Given the description of an element on the screen output the (x, y) to click on. 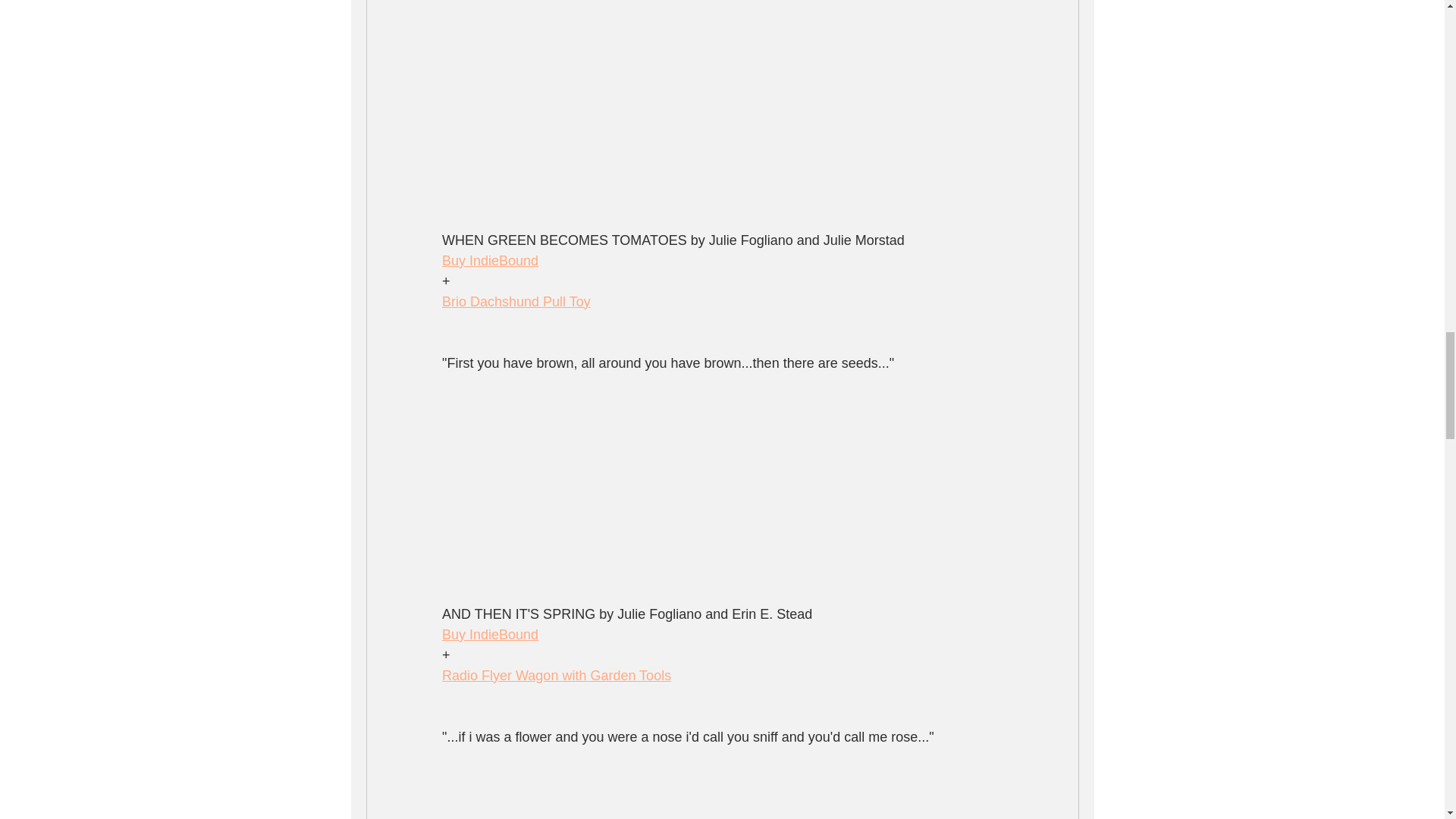
Brio Dachshund Pull Toy (515, 301)
Buy IndieBound (489, 634)
Buy IndieBound (489, 260)
Radio Flyer Wagon with Garden Tools (555, 675)
